Given the description of an element on the screen output the (x, y) to click on. 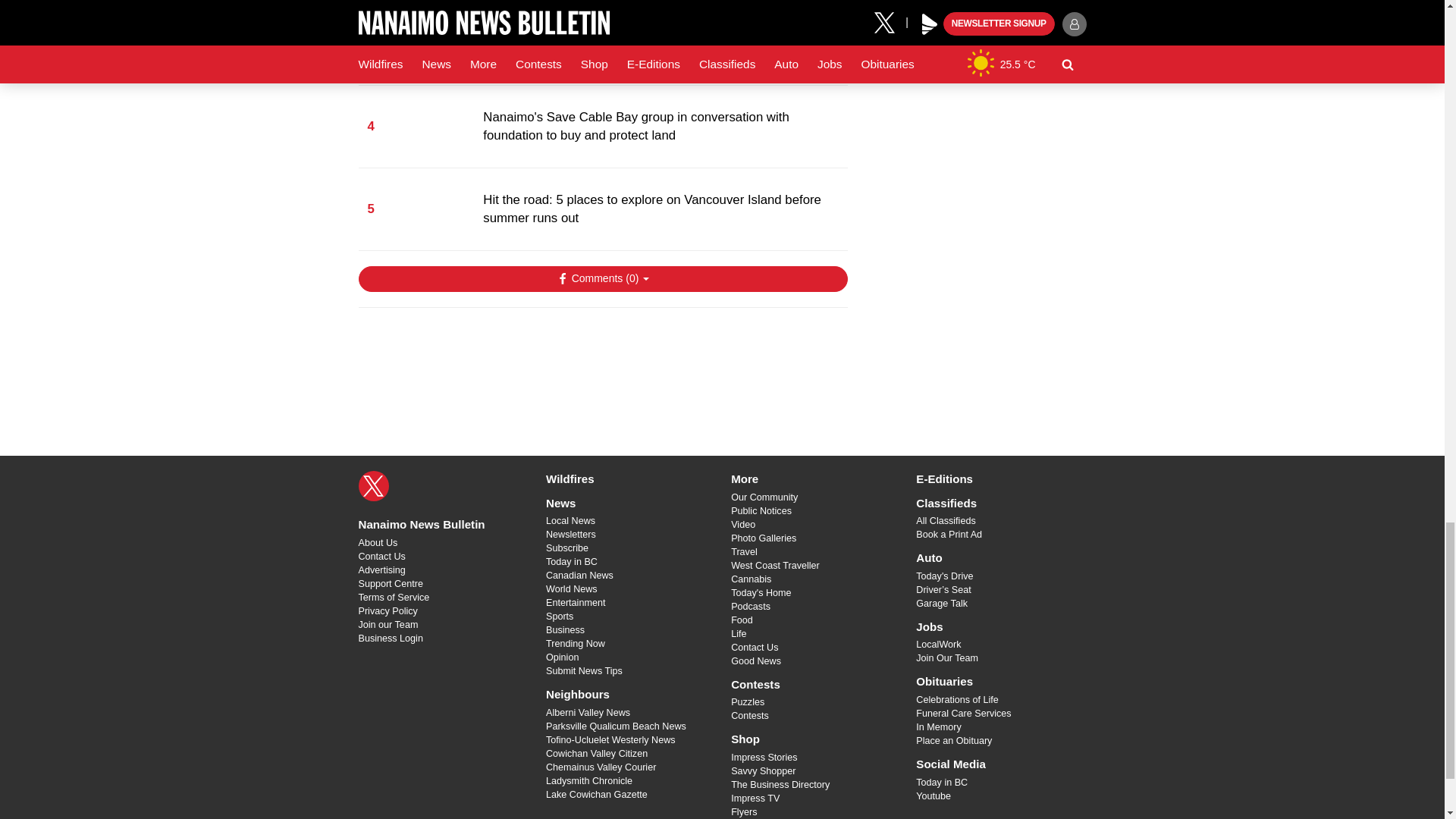
Show Comments (602, 278)
X (373, 485)
